Given the description of an element on the screen output the (x, y) to click on. 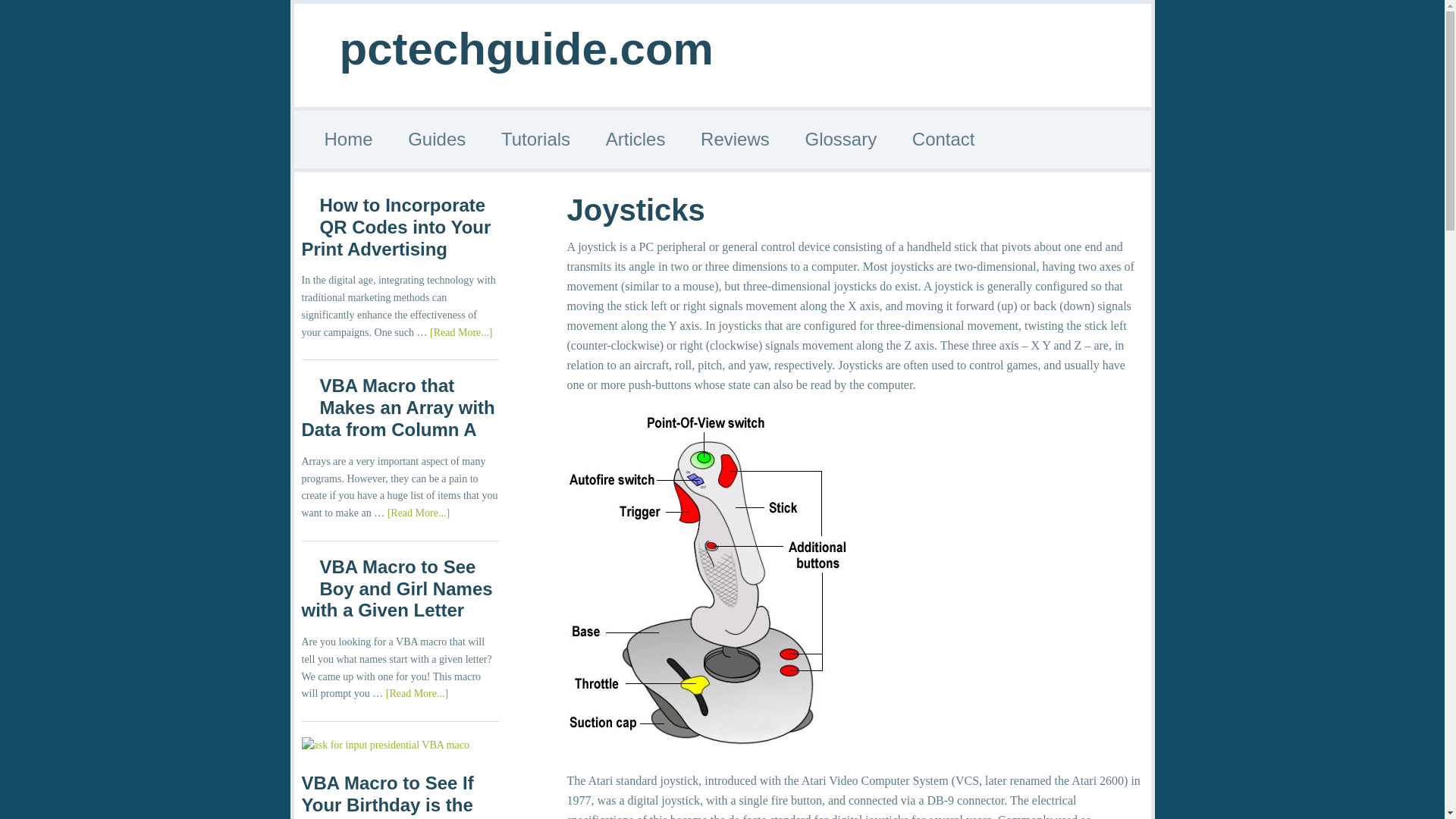
Contact (943, 139)
pctechguide.com (526, 48)
Articles (636, 139)
Home (348, 139)
Computer Guides (436, 139)
Tutorials (535, 139)
Articles (636, 139)
PC Tech Guide (348, 139)
Reviews (734, 139)
Glossary (840, 139)
